Given the description of an element on the screen output the (x, y) to click on. 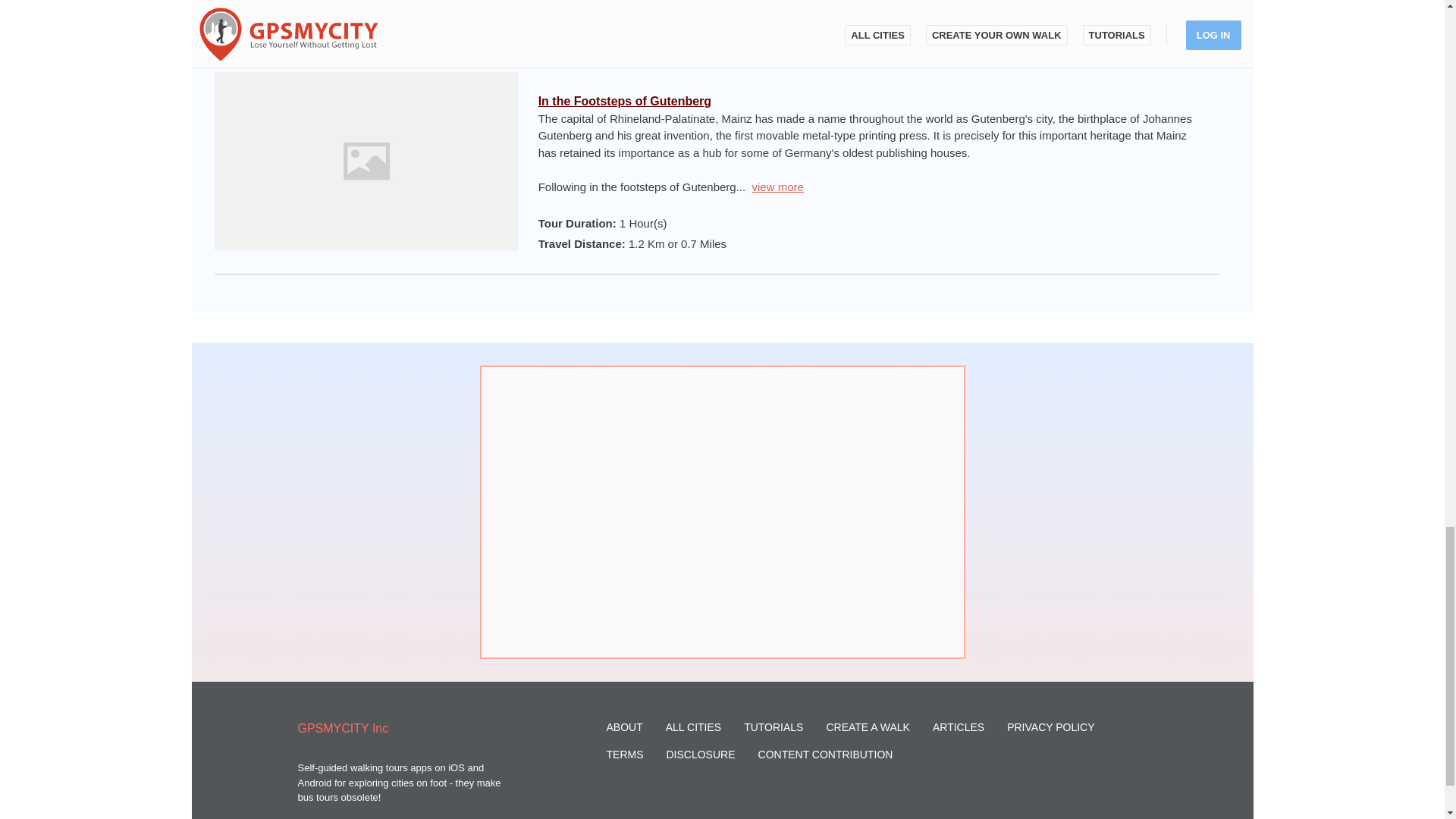
view more (777, 186)
GPSmyCity on Pinterest (1142, 809)
GPSmyCity on Facebook (1107, 809)
TUTORIALS (773, 727)
ABOUT (625, 727)
ARTICLES (958, 727)
In the Footsteps of Gutenberg (624, 101)
PRIVACY POLICY (1050, 727)
ALL CITIES (692, 727)
CREATE A WALK (866, 727)
